Given the description of an element on the screen output the (x, y) to click on. 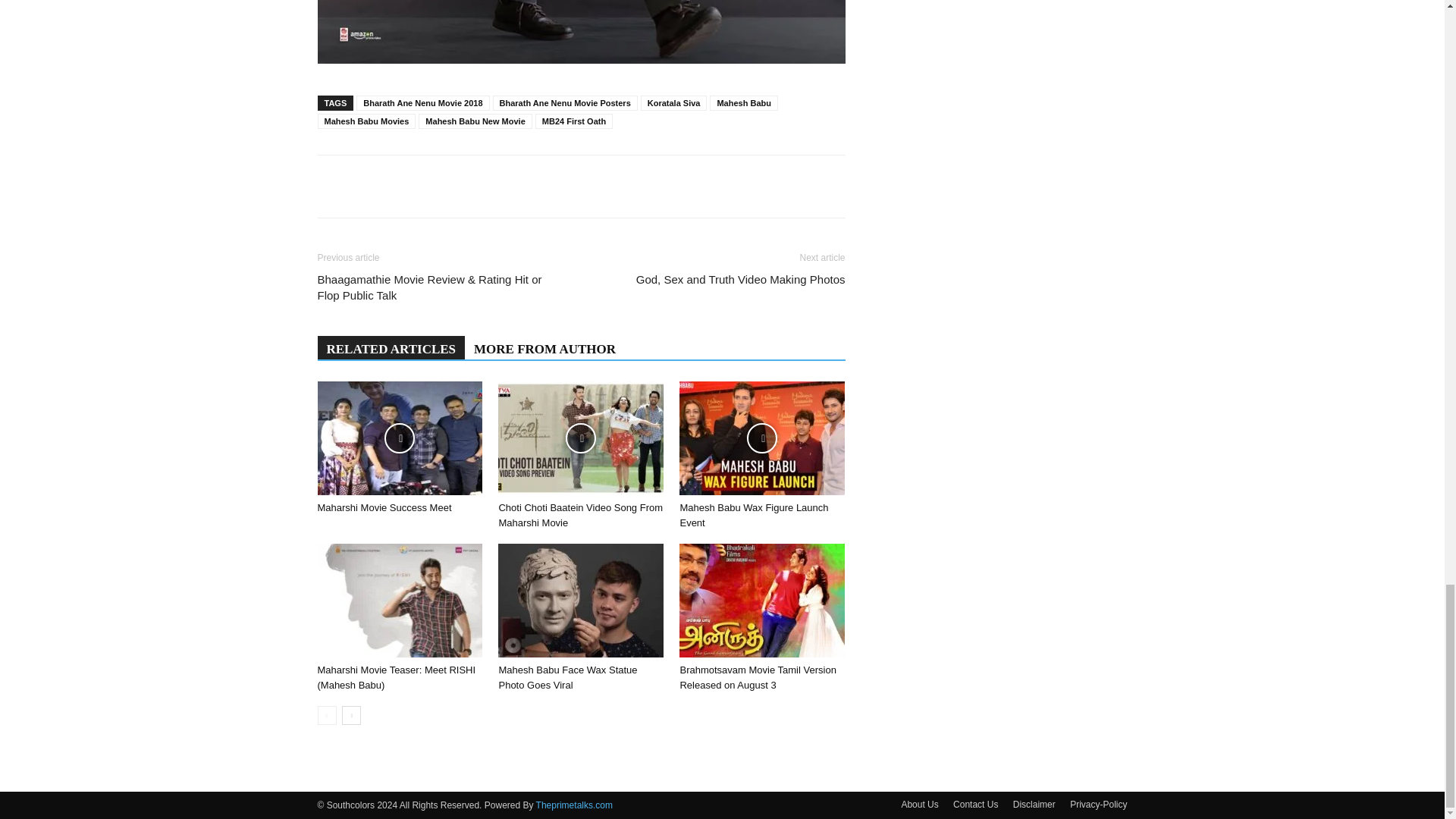
Bharath Ane Nenu First Look Posters (580, 31)
